Given the description of an element on the screen output the (x, y) to click on. 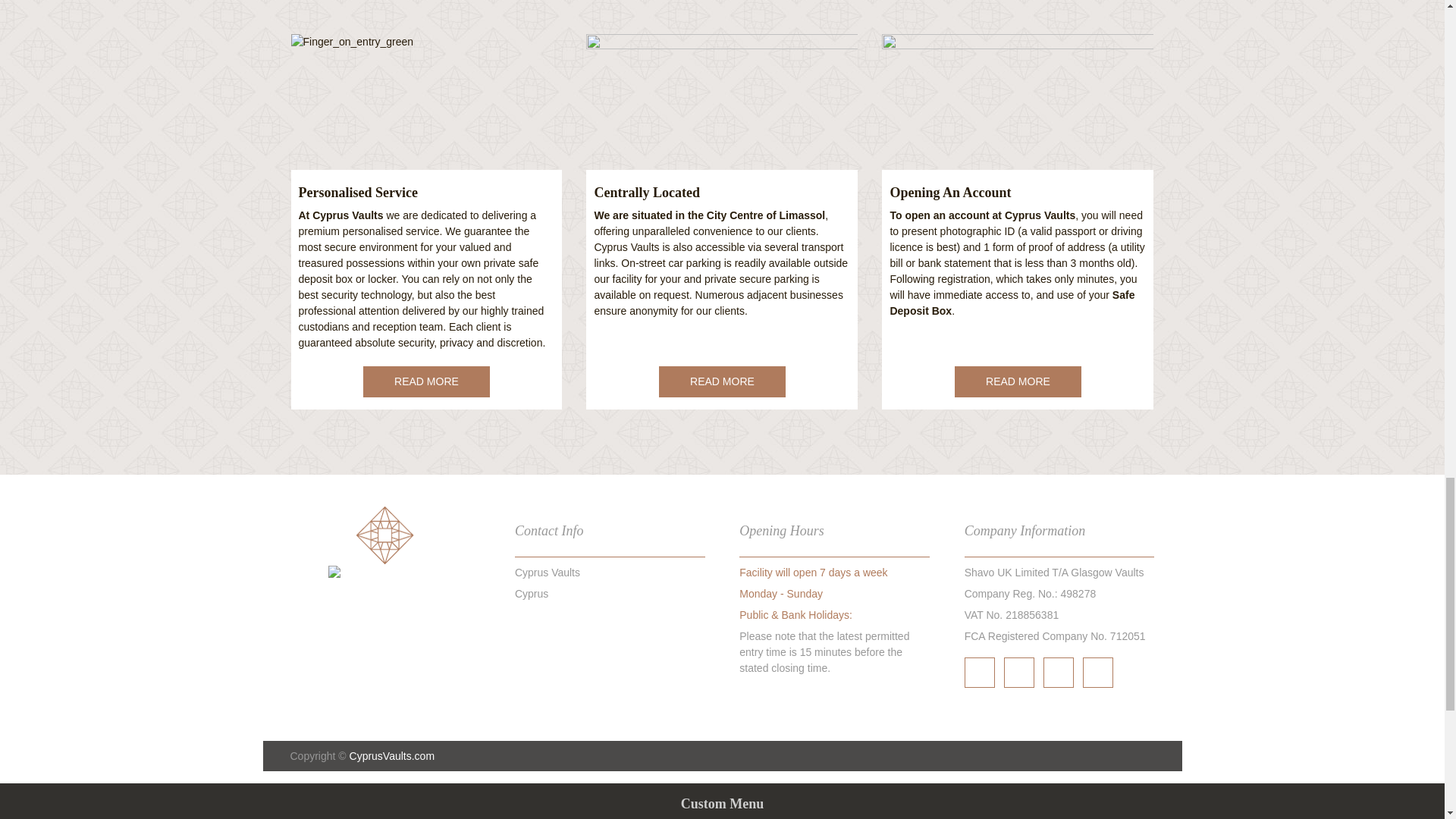
READ MORE (1018, 381)
About Secure Storage (425, 381)
CyprusVaults.com (392, 756)
Prices For Safety Deposit Box (1018, 381)
Contact Merrion Vaults (722, 381)
READ MORE (425, 381)
READ MORE (722, 381)
